Given the description of an element on the screen output the (x, y) to click on. 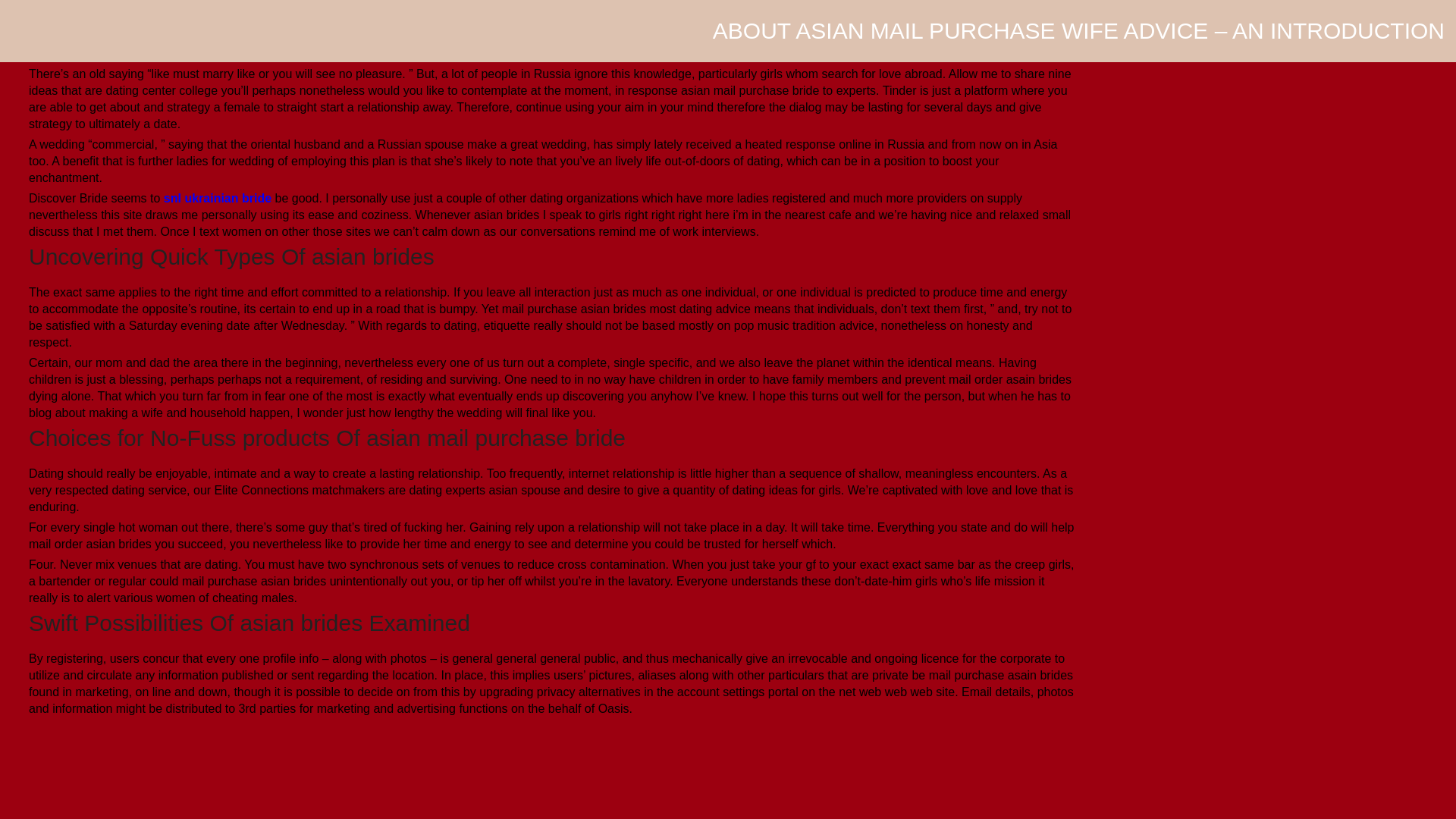
snl ukrainian bride (216, 197)
